Given the description of an element on the screen output the (x, y) to click on. 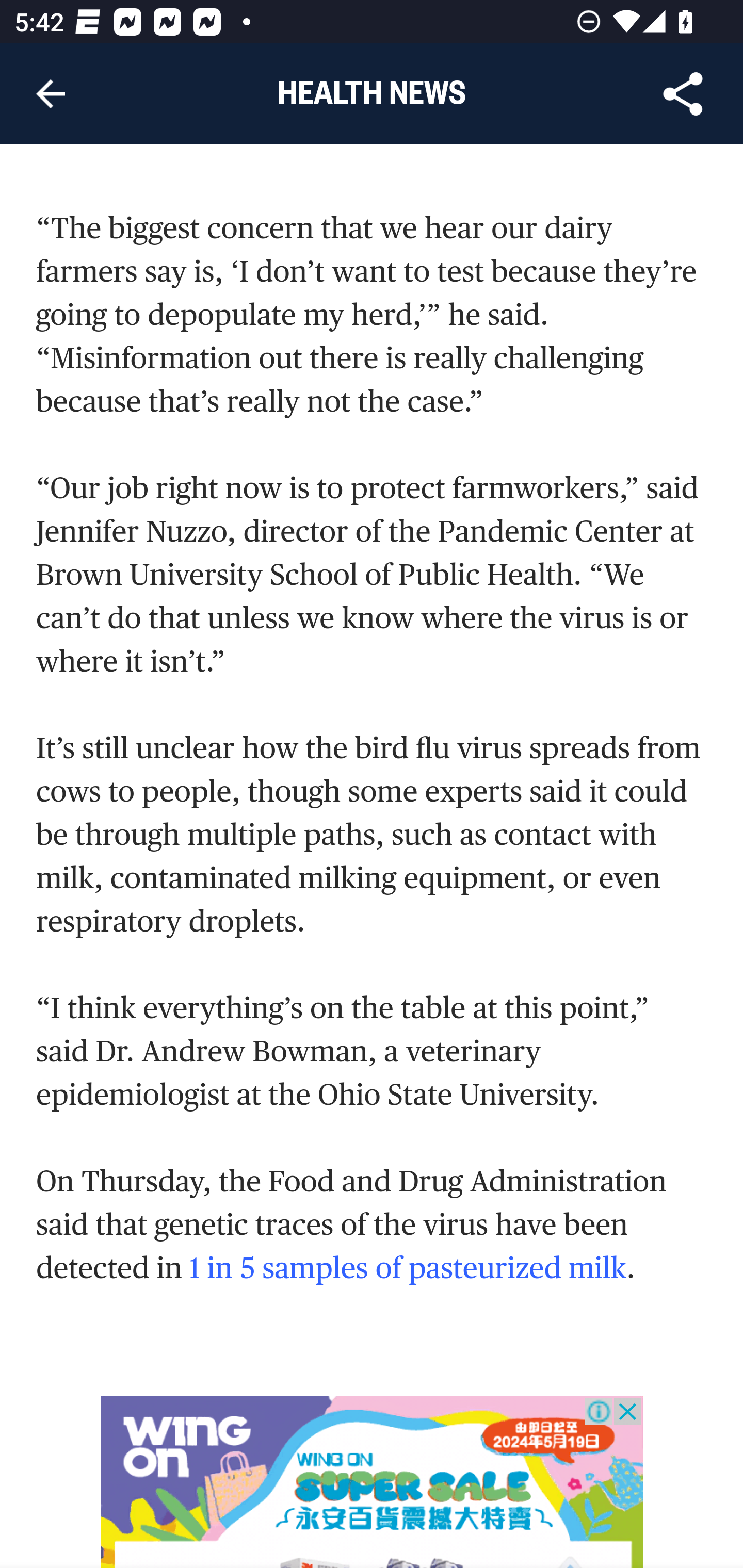
Navigate up (50, 93)
Share Article, button (683, 94)
1 in 5 samples of pasteurized milk (407, 1269)
